Given the description of an element on the screen output the (x, y) to click on. 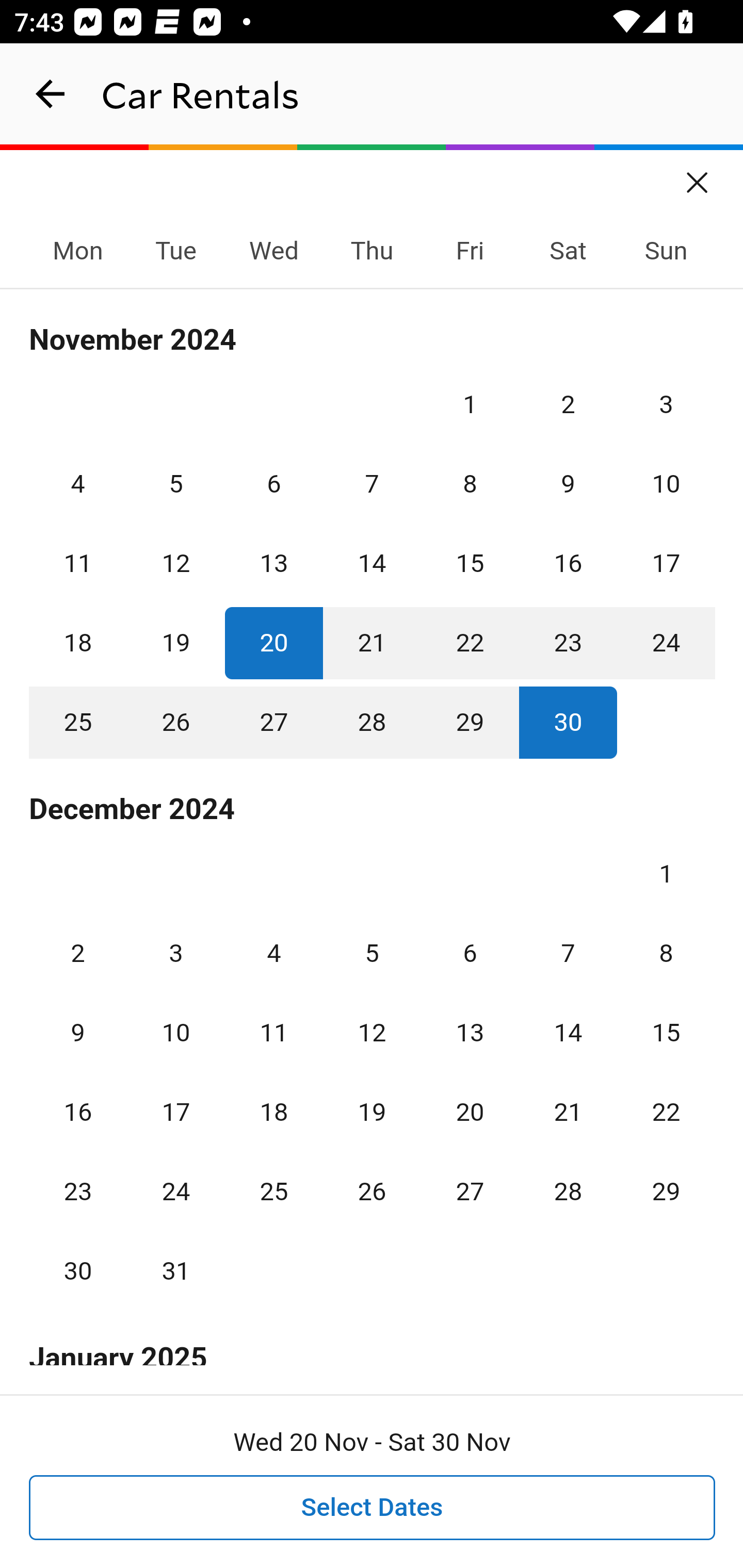
navigation_button (50, 93)
Close (697, 176)
1 November 2024 (470, 404)
2 November 2024 (567, 404)
3 November 2024 (665, 404)
4 November 2024 (77, 484)
5 November 2024 (175, 484)
6 November 2024 (273, 484)
7 November 2024 (371, 484)
8 November 2024 (470, 484)
9 November 2024 (567, 484)
10 November 2024 (665, 484)
11 November 2024 (77, 563)
12 November 2024 (175, 563)
13 November 2024 (273, 563)
14 November 2024 (371, 563)
15 November 2024 (470, 563)
16 November 2024 (567, 563)
17 November 2024 (665, 563)
18 November 2024 (77, 642)
19 November 2024 (175, 642)
20 November 2024 (273, 642)
21 November 2024 (371, 642)
22 November 2024 (470, 642)
23 November 2024 (567, 642)
24 November 2024 (665, 642)
25 November 2024 (77, 722)
26 November 2024 (175, 722)
27 November 2024 (273, 722)
28 November 2024 (371, 722)
29 November 2024 (470, 722)
30 November 2024 (567, 722)
1 December 2024 (665, 873)
2 December 2024 (77, 952)
3 December 2024 (175, 952)
4 December 2024 (273, 952)
5 December 2024 (371, 952)
6 December 2024 (470, 952)
7 December 2024 (567, 952)
8 December 2024 (665, 952)
9 December 2024 (77, 1032)
10 December 2024 (175, 1032)
11 December 2024 (273, 1032)
12 December 2024 (371, 1032)
13 December 2024 (470, 1032)
14 December 2024 (567, 1032)
15 December 2024 (665, 1032)
16 December 2024 (77, 1112)
17 December 2024 (175, 1112)
18 December 2024 (273, 1112)
